Given the description of an element on the screen output the (x, y) to click on. 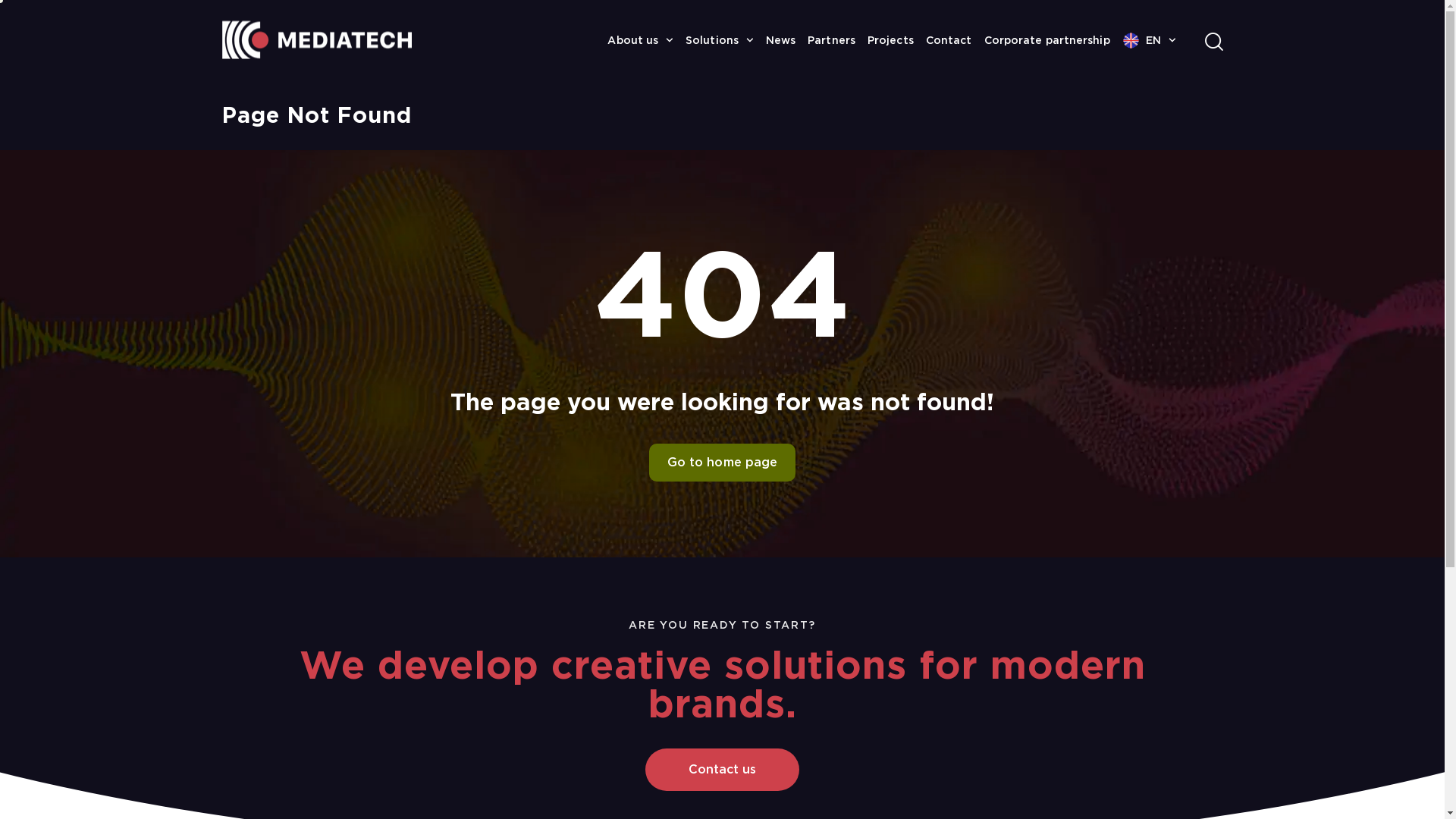
Corporate partnership Element type: text (1047, 40)
Projects Element type: text (890, 40)
Solutions Element type: text (719, 40)
Contact Element type: text (948, 40)
Go to home page Element type: text (722, 462)
EN Element type: text (1149, 40)
Partners Element type: text (831, 40)
News Element type: text (780, 40)
About us Element type: text (640, 40)
Contact us Element type: text (722, 769)
